Given the description of an element on the screen output the (x, y) to click on. 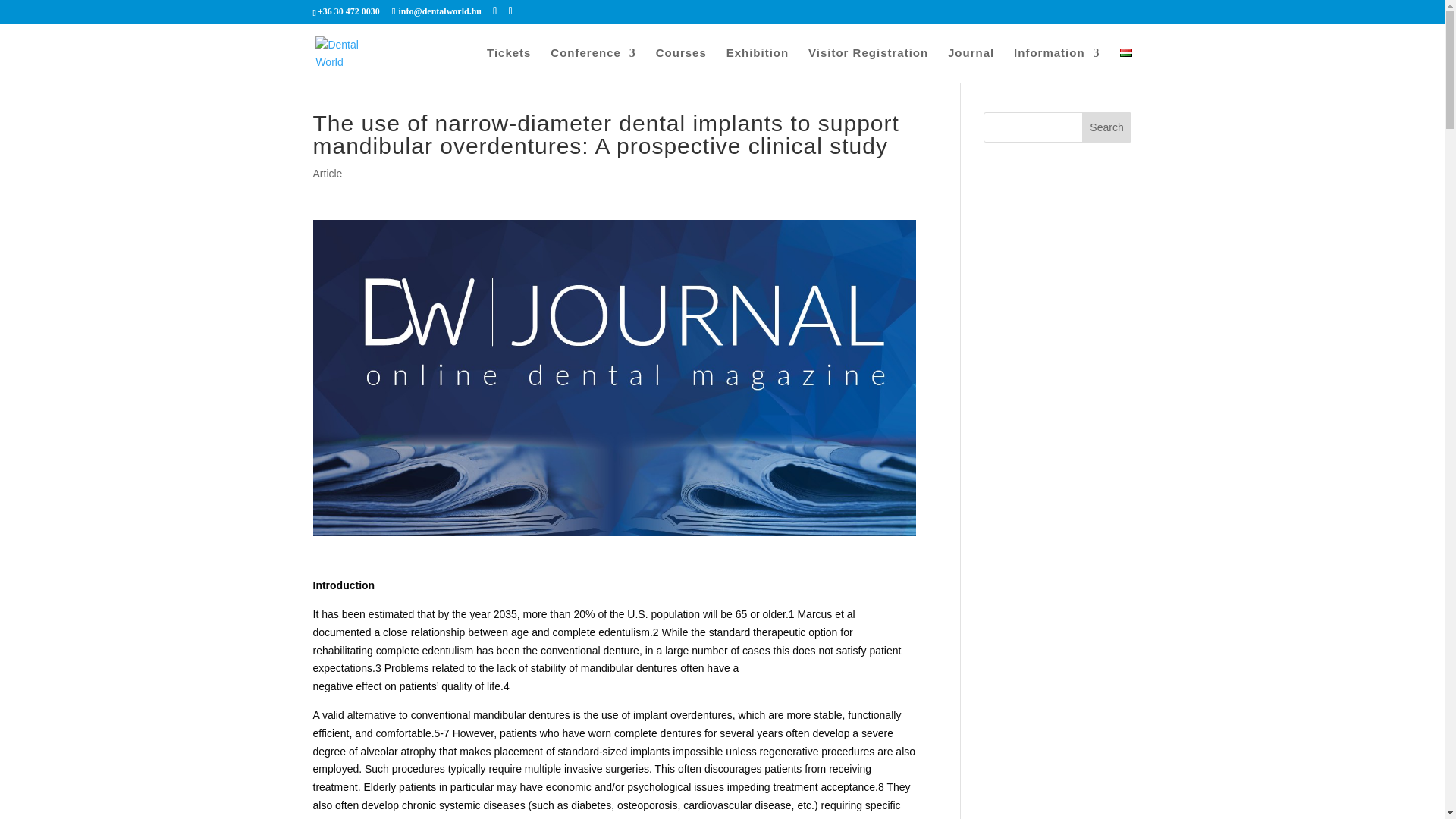
Article (327, 173)
Conference (593, 65)
Search (1106, 127)
Search (1106, 127)
Exhibition (757, 65)
Visitor Registration (868, 65)
Journal (970, 65)
Tickets (508, 65)
Courses (681, 65)
Information (1056, 65)
